Given the description of an element on the screen output the (x, y) to click on. 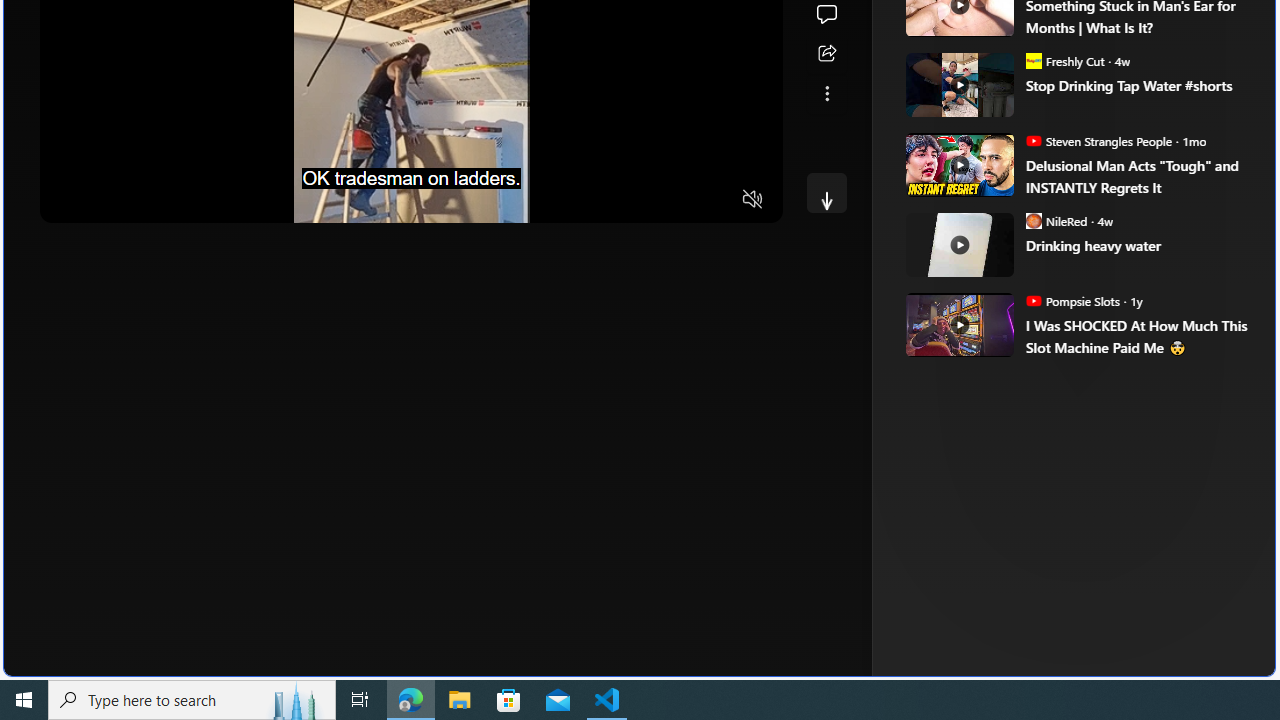
Drinking heavy water (1136, 245)
Pompsie Slots Pompsie Slots (1072, 300)
Class: control (826, 192)
NileRed (1033, 219)
Stop Drinking Tap Water #shorts (1136, 85)
Steven Strangles People (1033, 140)
Feedback (1199, 659)
Pause (69, 200)
Captions (675, 200)
Forge of Empires (1025, 337)
Freshly Cut (1033, 60)
